Given the description of an element on the screen output the (x, y) to click on. 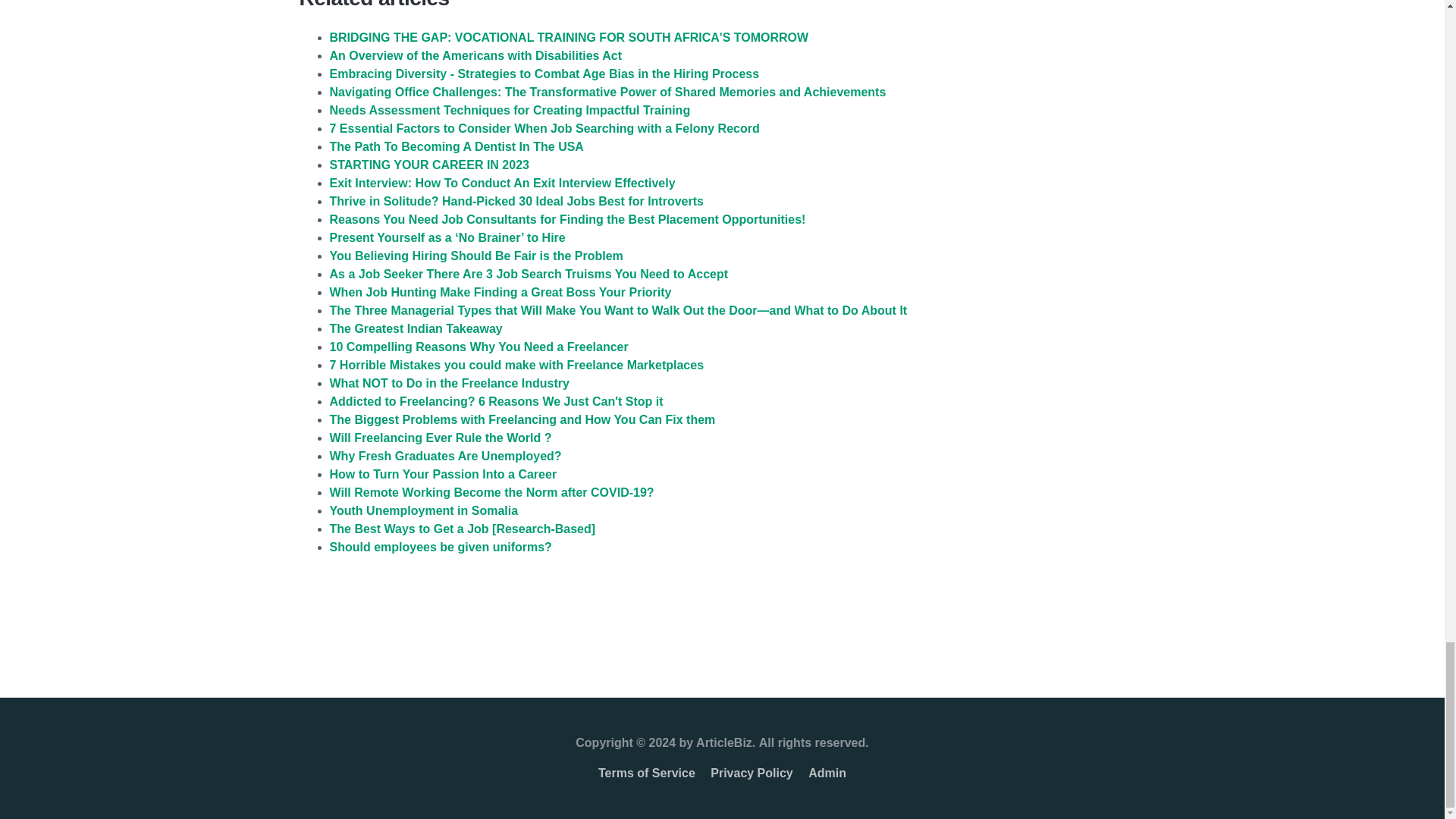
STARTING YOUR CAREER IN 2023 (428, 164)
An Overview of the Americans with Disabilities Act (475, 55)
The Path To Becoming A Dentist In The USA (456, 146)
Needs Assessment Techniques for Creating Impactful Training (509, 110)
Exit Interview: How To Conduct An Exit Interview Effectively (502, 182)
